Given the description of an element on the screen output the (x, y) to click on. 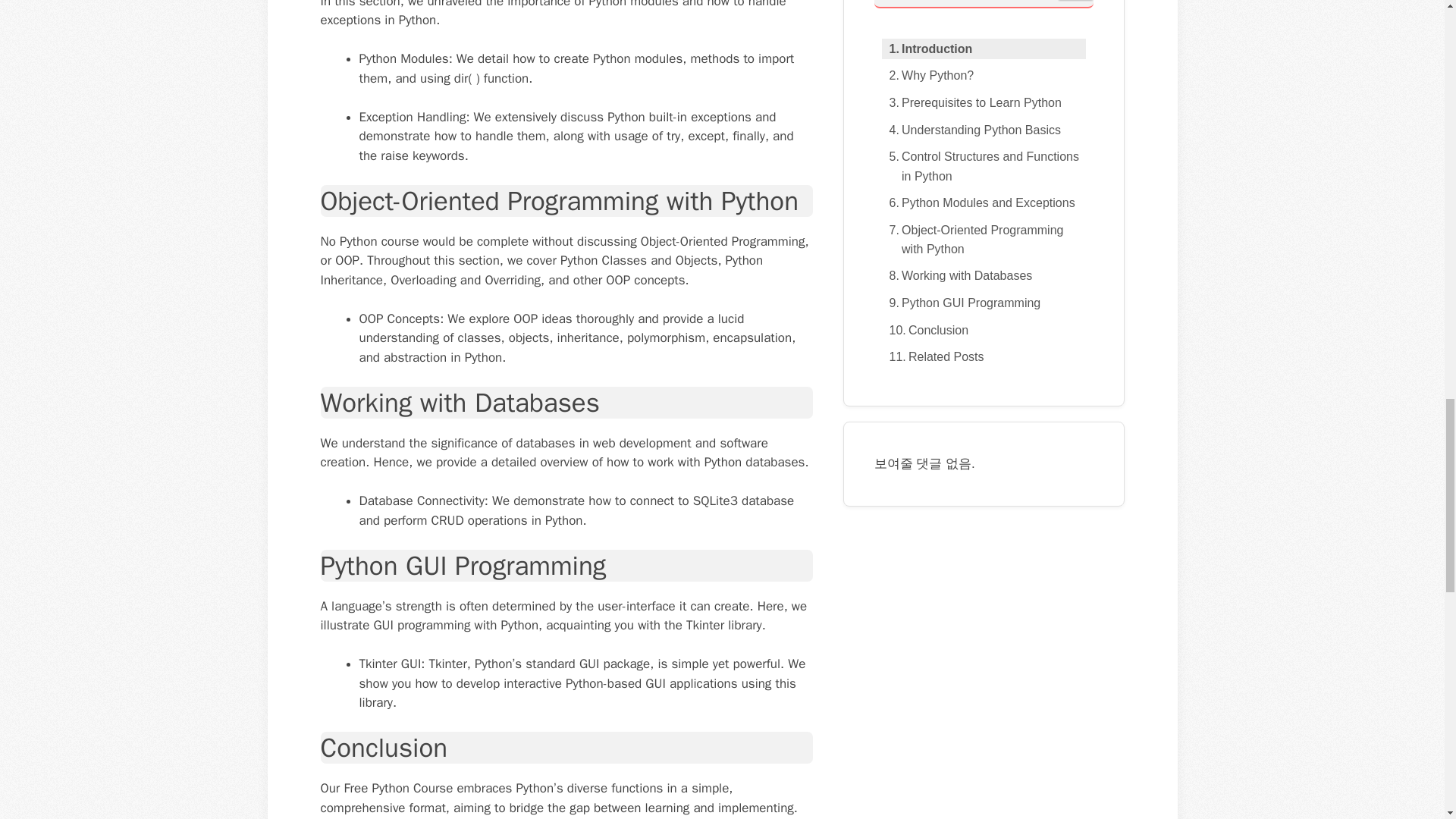
Why Python? (927, 75)
Prerequisites to Learn Python (970, 103)
Introduction (926, 48)
Understanding Python Basics (969, 130)
